Given the description of an element on the screen output the (x, y) to click on. 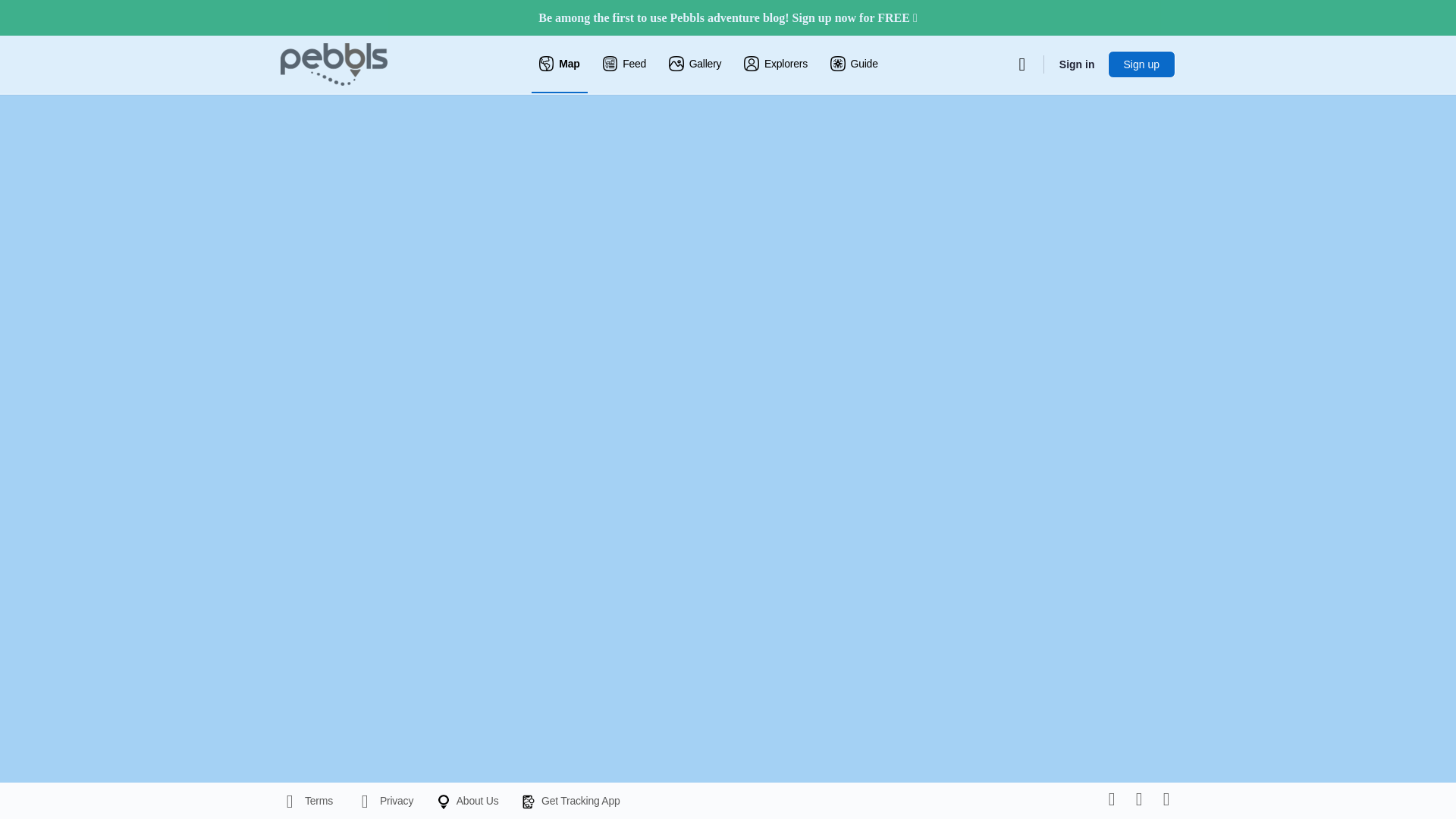
Privacy (384, 800)
Feed (624, 64)
Explorers (775, 64)
Terms (307, 800)
Gallery (695, 64)
Sign in (1076, 63)
About Us (466, 800)
Map (559, 64)
Sign up (1141, 63)
Guide (853, 64)
